Given the description of an element on the screen output the (x, y) to click on. 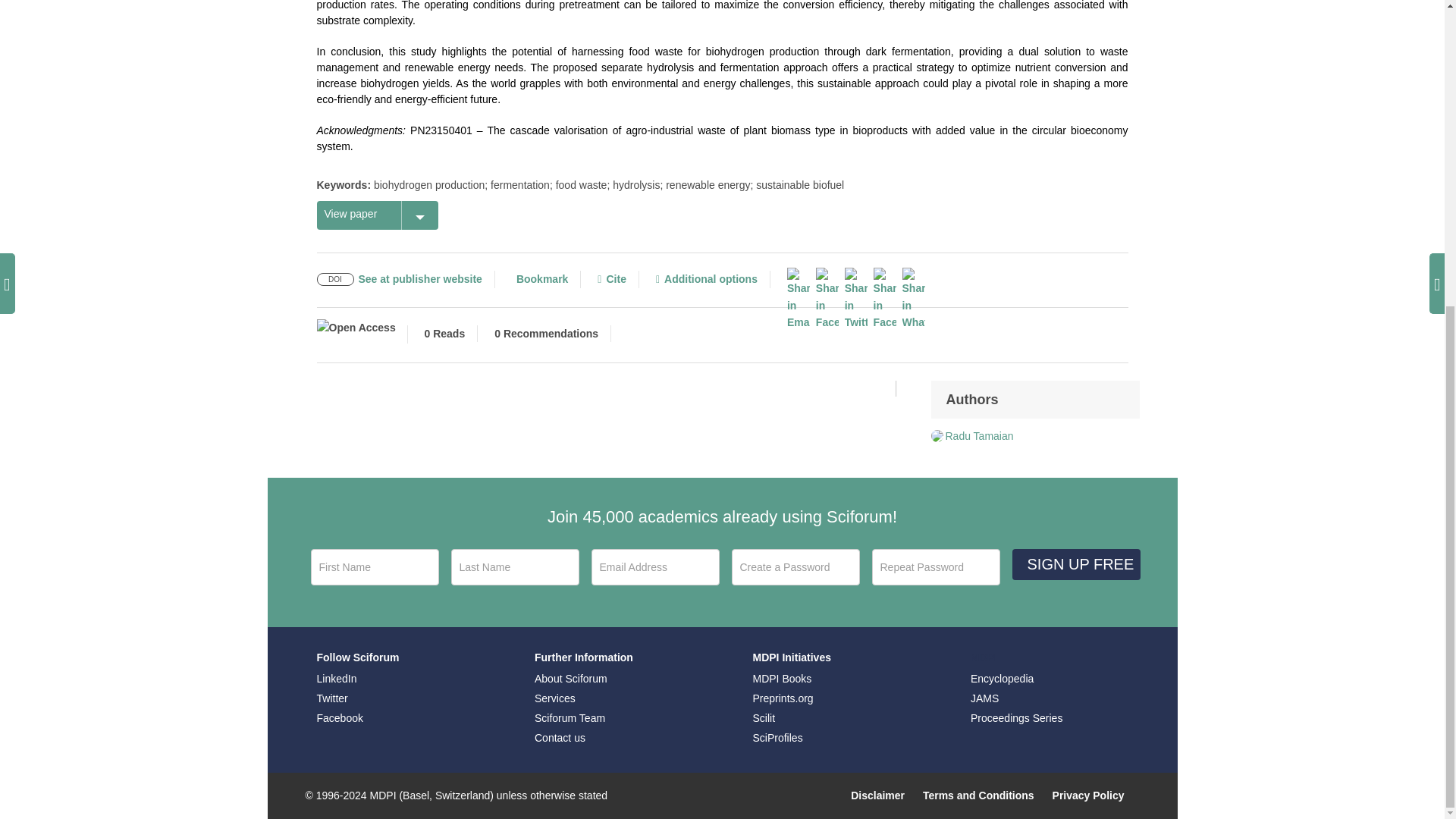
Email (655, 566)
Confirm password (936, 566)
Sign Up Free (1075, 563)
Last name (513, 566)
First name (375, 566)
